Given the description of an element on the screen output the (x, y) to click on. 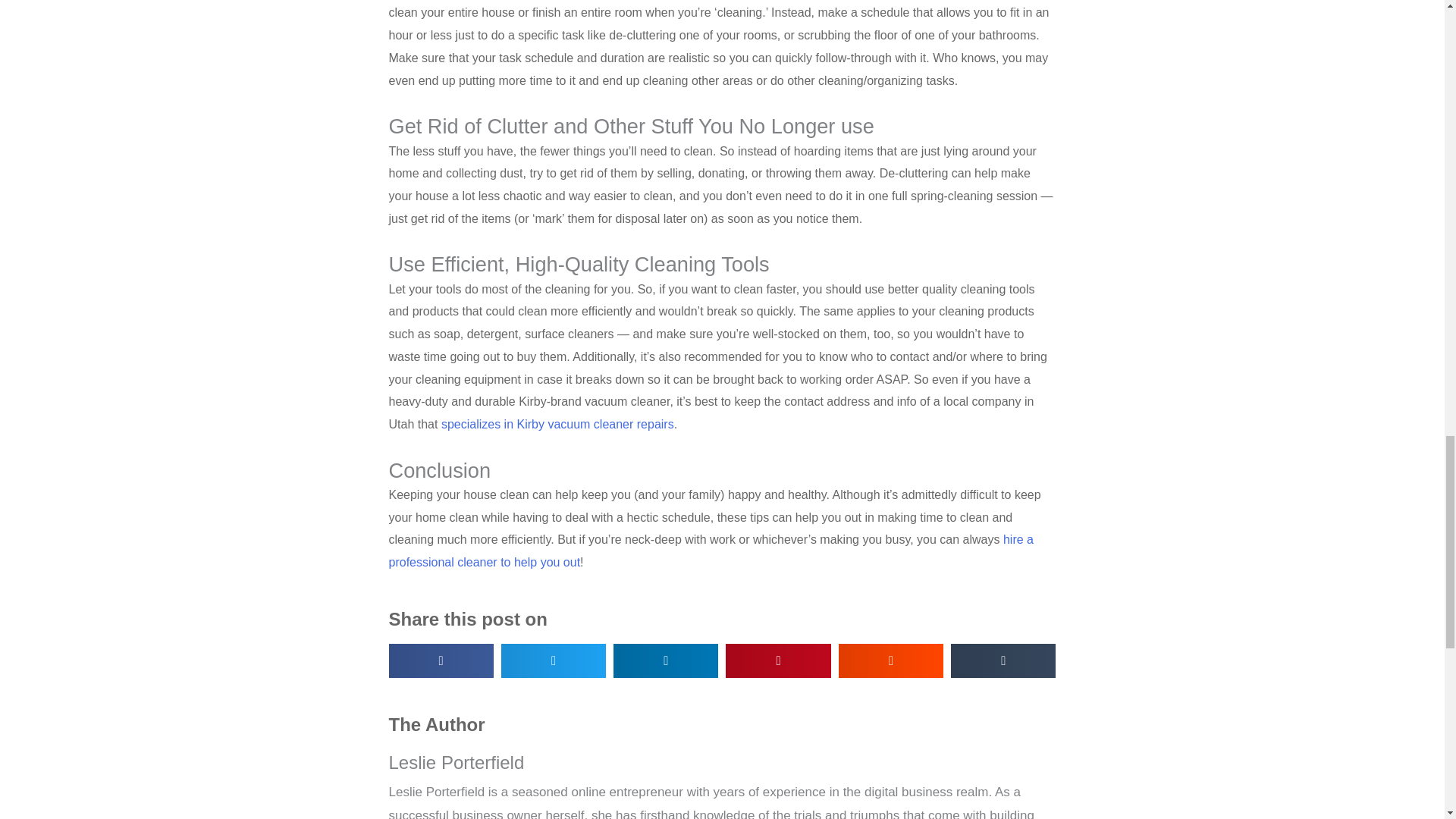
Vaccums360 (557, 423)
hire a professional cleaner to help you out (710, 550)
specializes in Kirby vacuum cleaner repairs (557, 423)
